Given the description of an element on the screen output the (x, y) to click on. 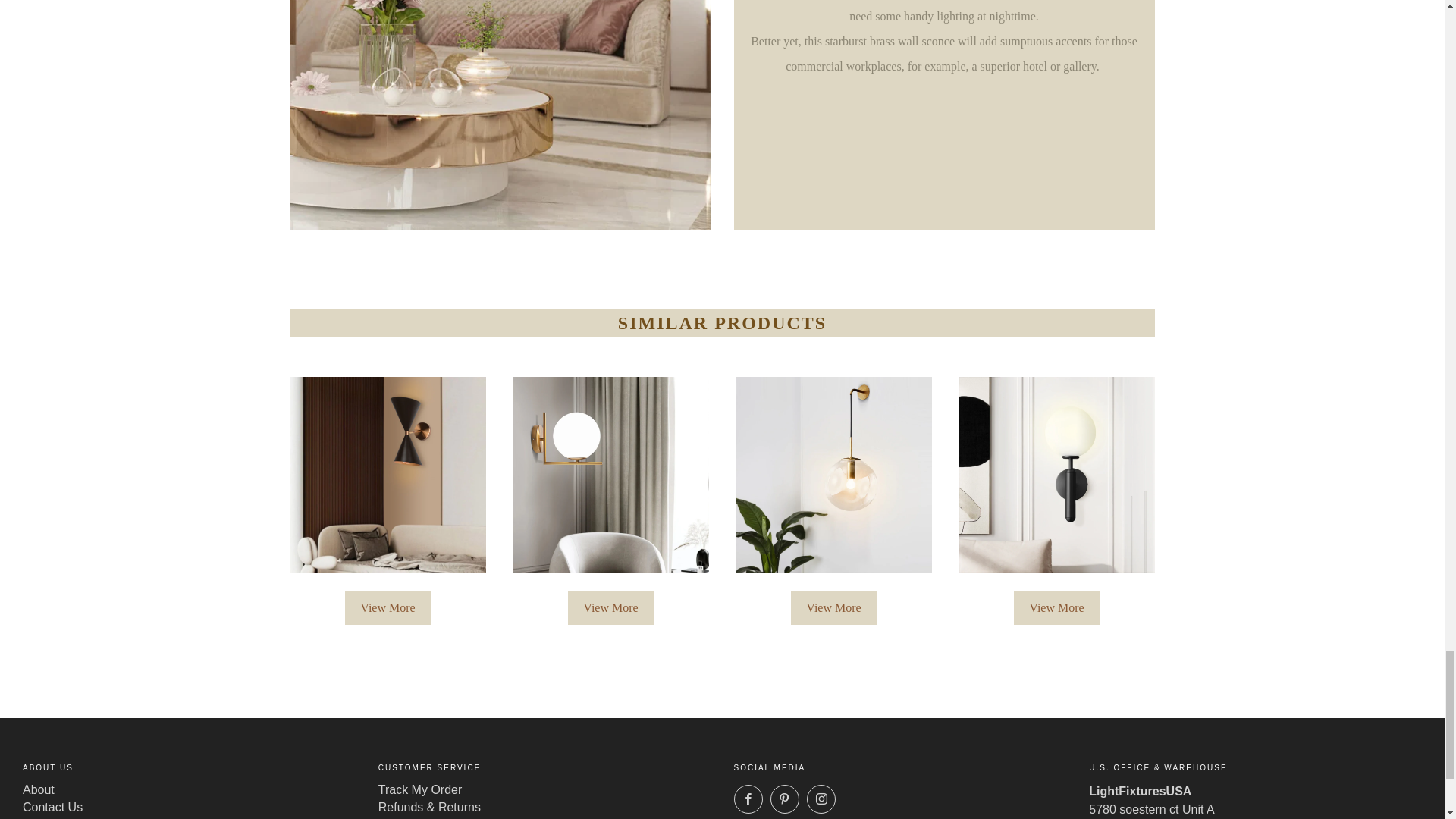
Globe Brass Hanging Wall Sconce (833, 474)
